Given the description of an element on the screen output the (x, y) to click on. 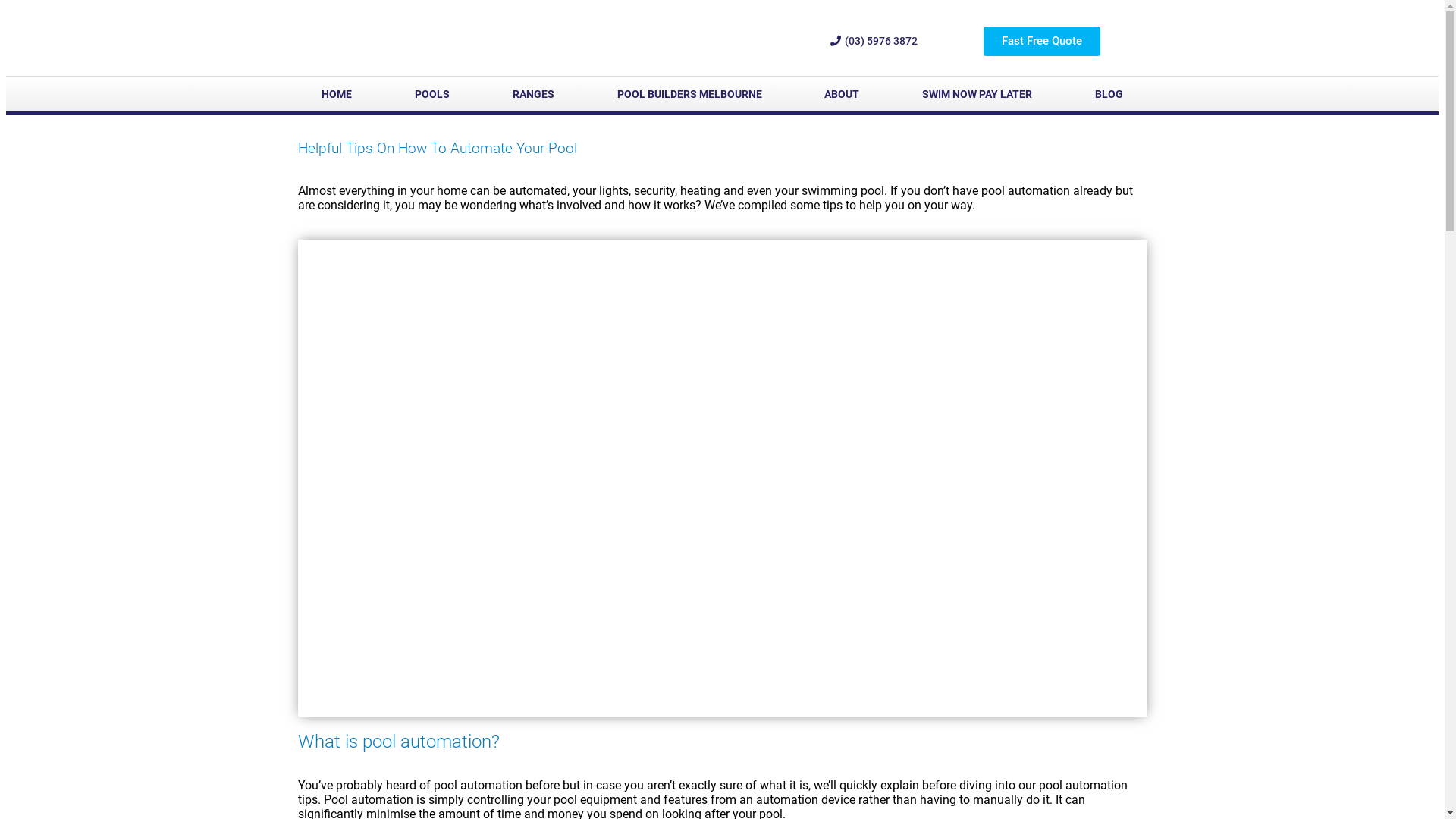
Fast Free Quote Element type: text (1041, 41)
(03) 5976 3872 Element type: text (873, 40)
POOLS Element type: text (431, 93)
ABOUT Element type: text (842, 93)
RANGES Element type: text (532, 93)
HOME Element type: text (335, 93)
POOL BUILDERS MELBOURNE Element type: text (689, 93)
BLOG Element type: text (1108, 93)
SWIM NOW PAY LATER Element type: text (977, 93)
